Given the description of an element on the screen output the (x, y) to click on. 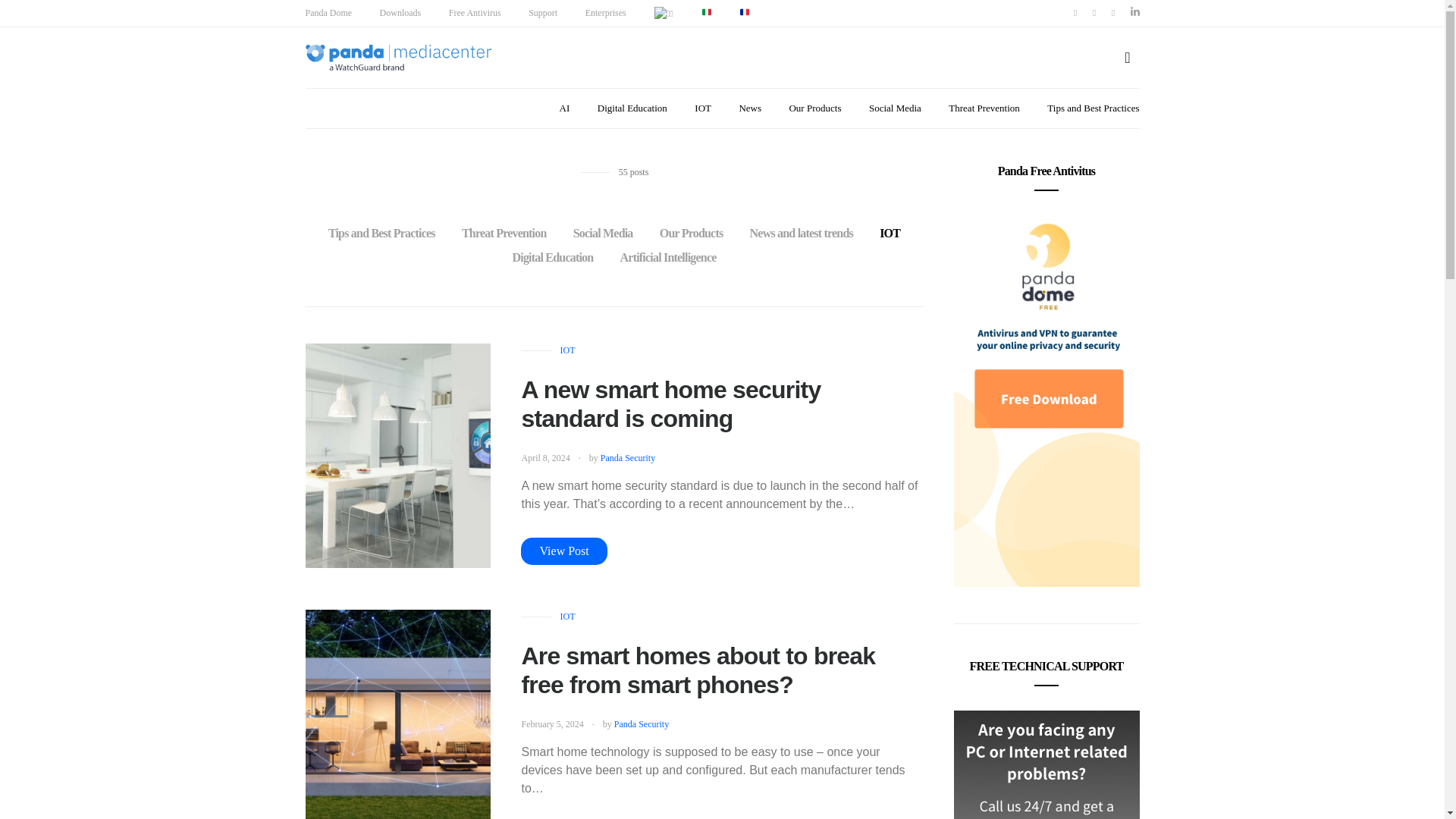
Support (542, 12)
Our Products (815, 107)
Artificial Intelligence (668, 257)
Anytech - free tech support (1046, 764)
Panda Security (627, 457)
Tips and Best Practices (380, 233)
Digital Education (552, 257)
View Post (564, 551)
Panda Dome (328, 12)
Free Antivirus (474, 12)
A new smart home security standard is coming (671, 403)
Social Media (895, 107)
Threat Prevention (504, 233)
Threat Prevention (984, 107)
News and latest trends (801, 233)
